Given the description of an element on the screen output the (x, y) to click on. 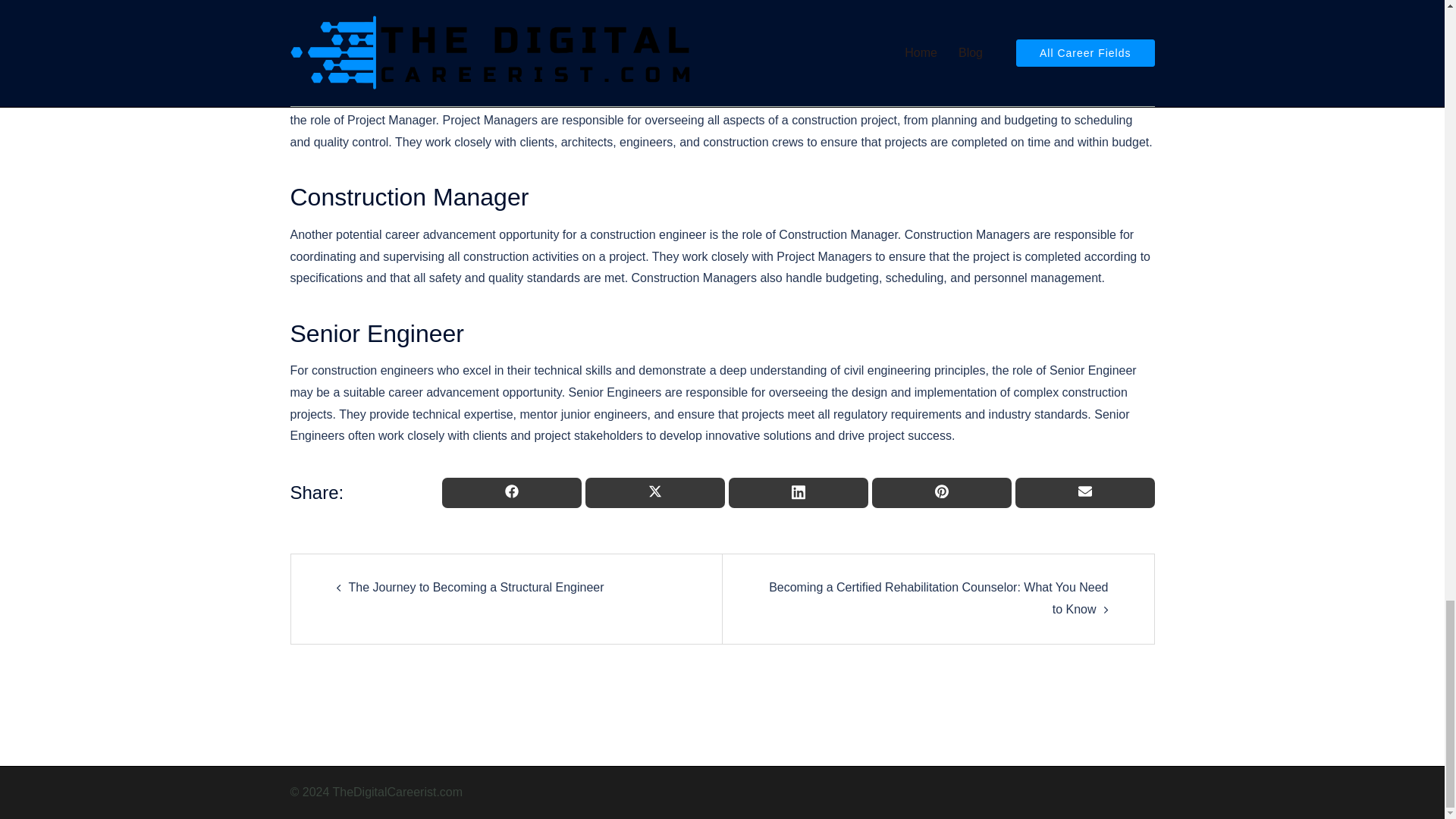
The Journey to Becoming a Structural Engineer (476, 586)
